Given the description of an element on the screen output the (x, y) to click on. 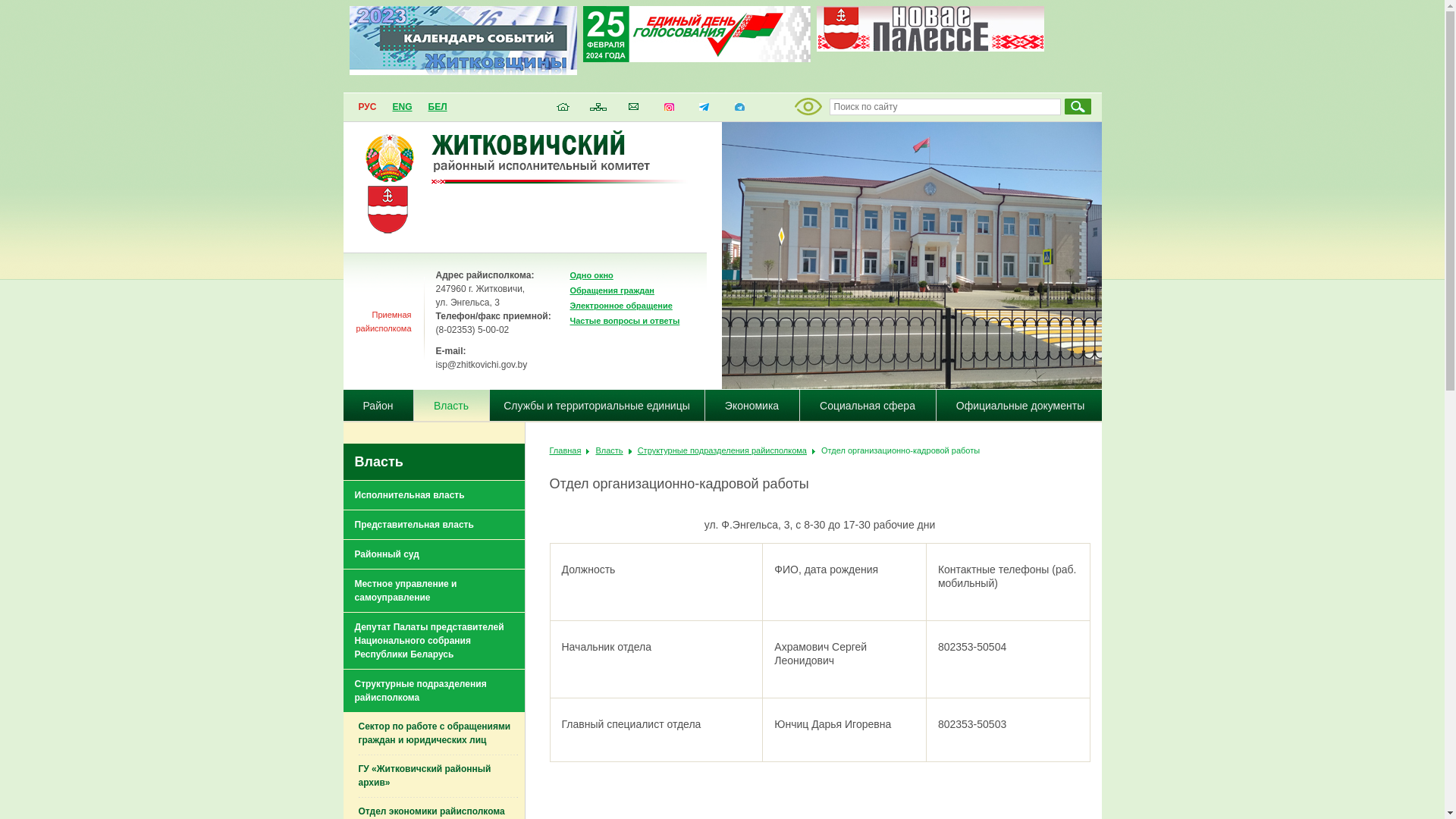
kalendar23 Element type: hover (462, 40)
ENG Element type: text (401, 106)
instagram Element type: hover (669, 110)
kalendar23 Element type: hover (462, 71)
